Given the description of an element on the screen output the (x, y) to click on. 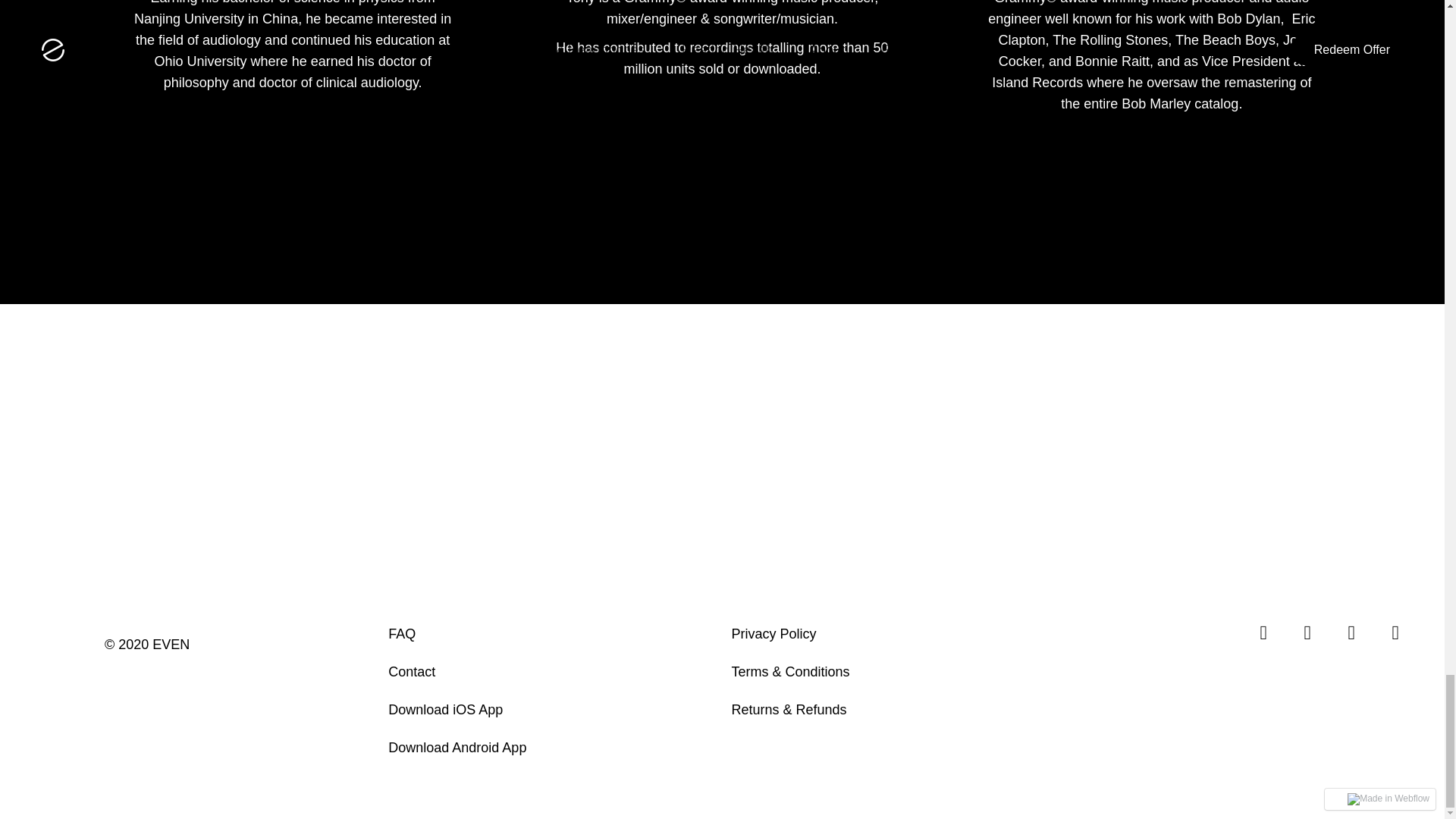
Privacy Policy (892, 633)
Subscribe (866, 484)
Download iOS App (550, 709)
Contact (550, 671)
Download Android App (550, 747)
FAQ (550, 633)
